Given the description of an element on the screen output the (x, y) to click on. 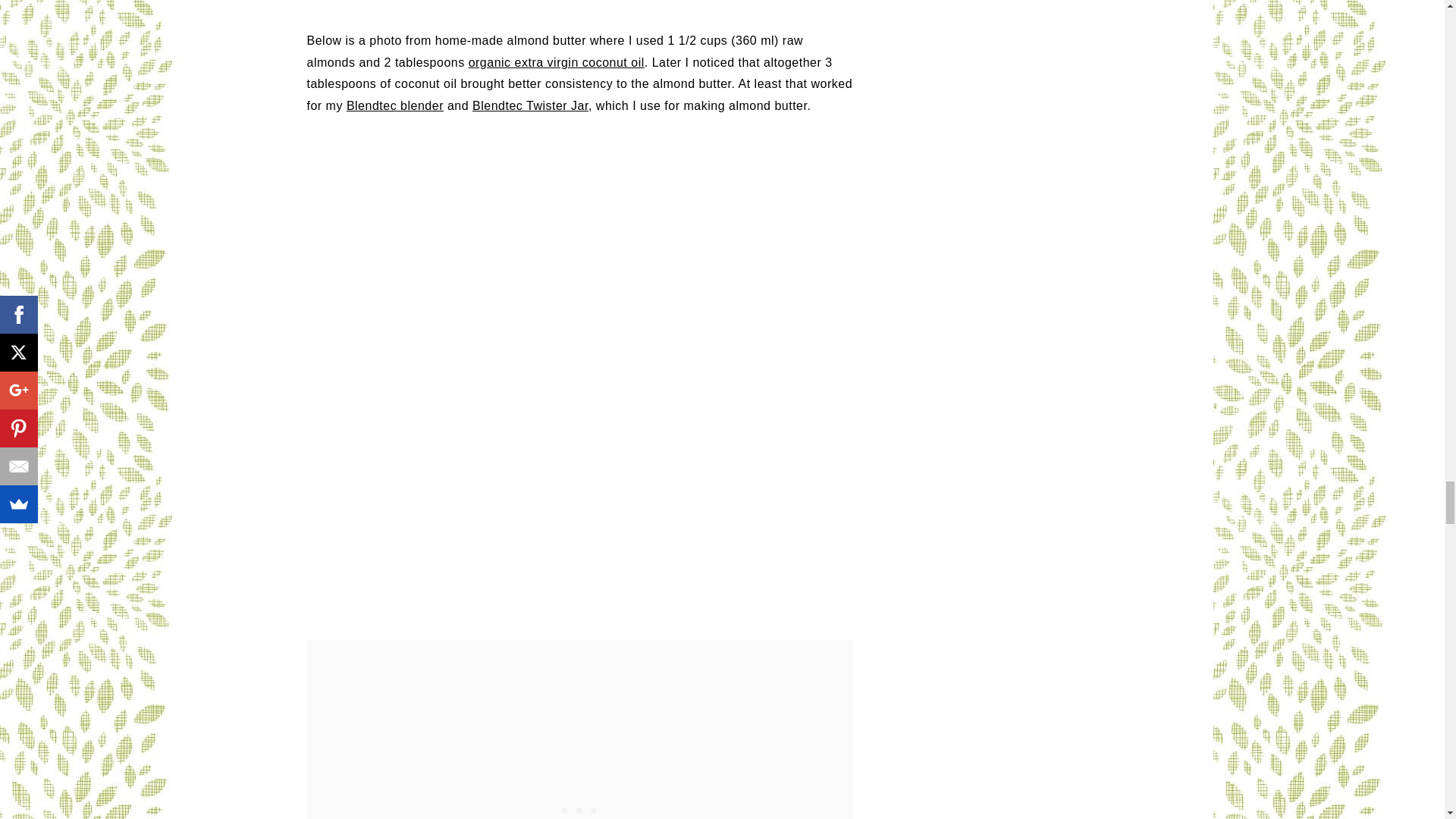
Twister Jar (529, 105)
Blendtec Blender (395, 105)
